Given the description of an element on the screen output the (x, y) to click on. 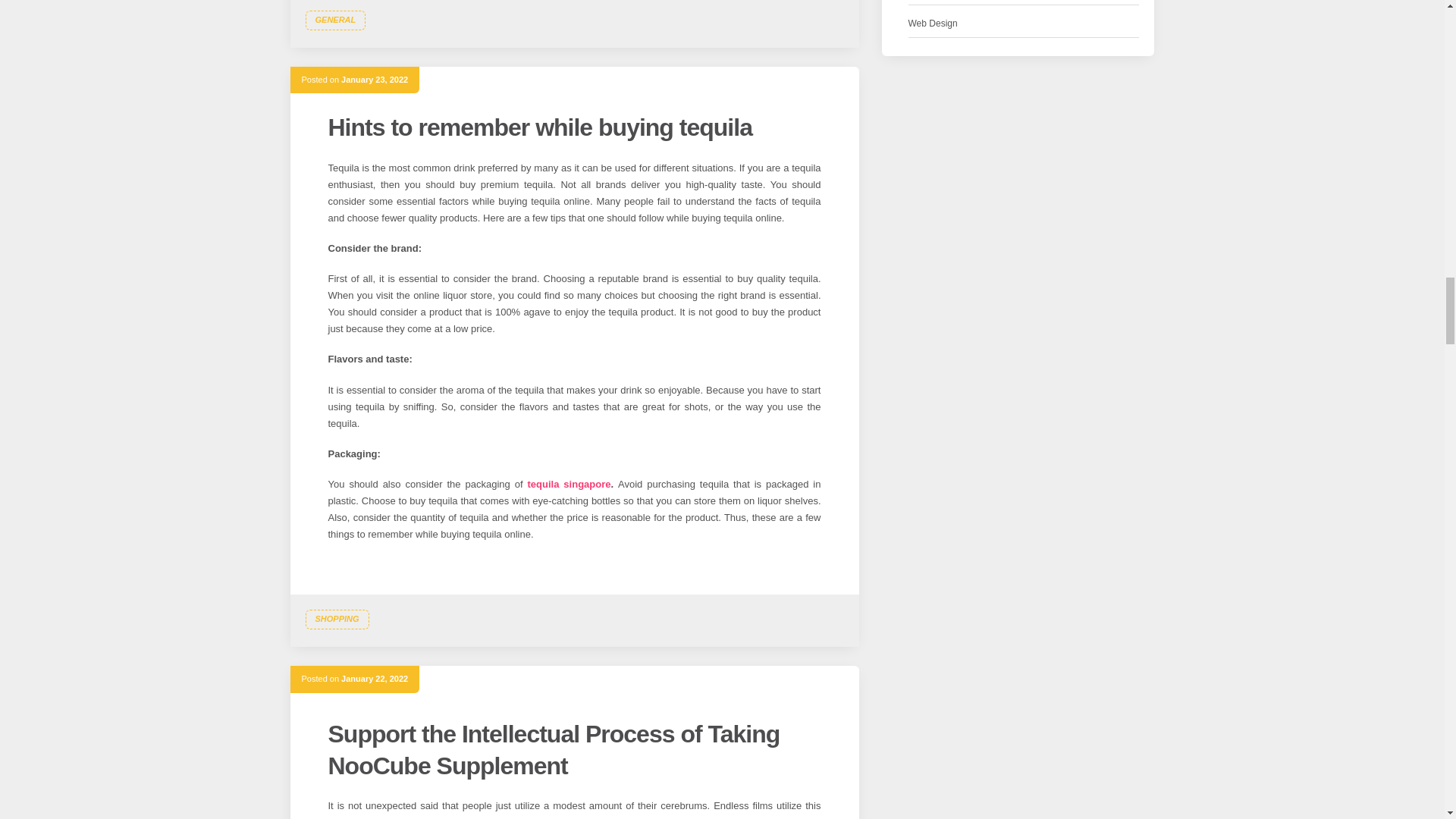
GENERAL (334, 20)
tequila singapore (569, 483)
Hints to remember while buying tequila (539, 126)
SHOPPING (336, 619)
January 22, 2022 (373, 678)
January 23, 2022 (373, 79)
